Given the description of an element on the screen output the (x, y) to click on. 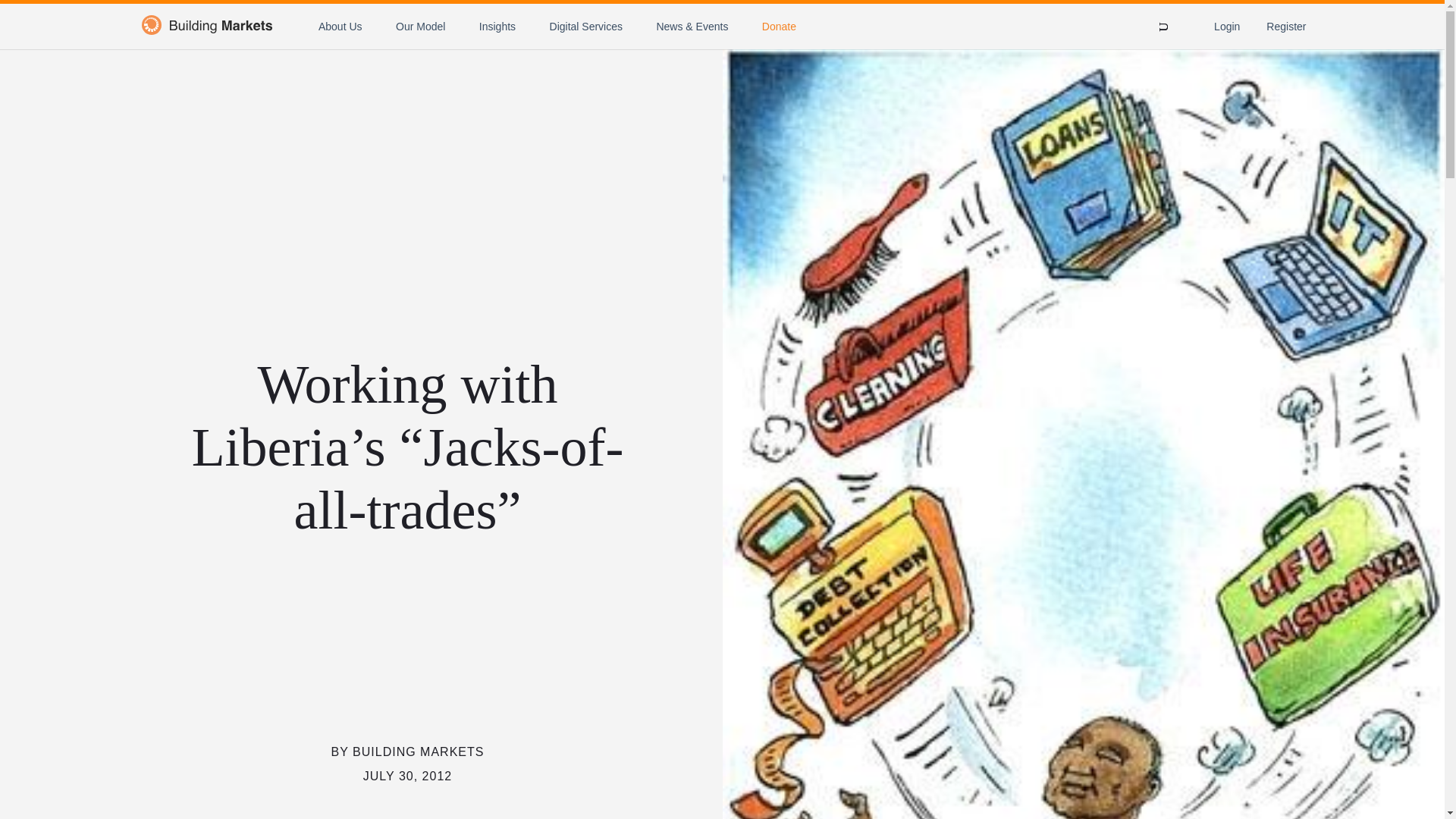
Our Model (420, 26)
About Us (340, 26)
Digital Services (586, 26)
